Given the description of an element on the screen output the (x, y) to click on. 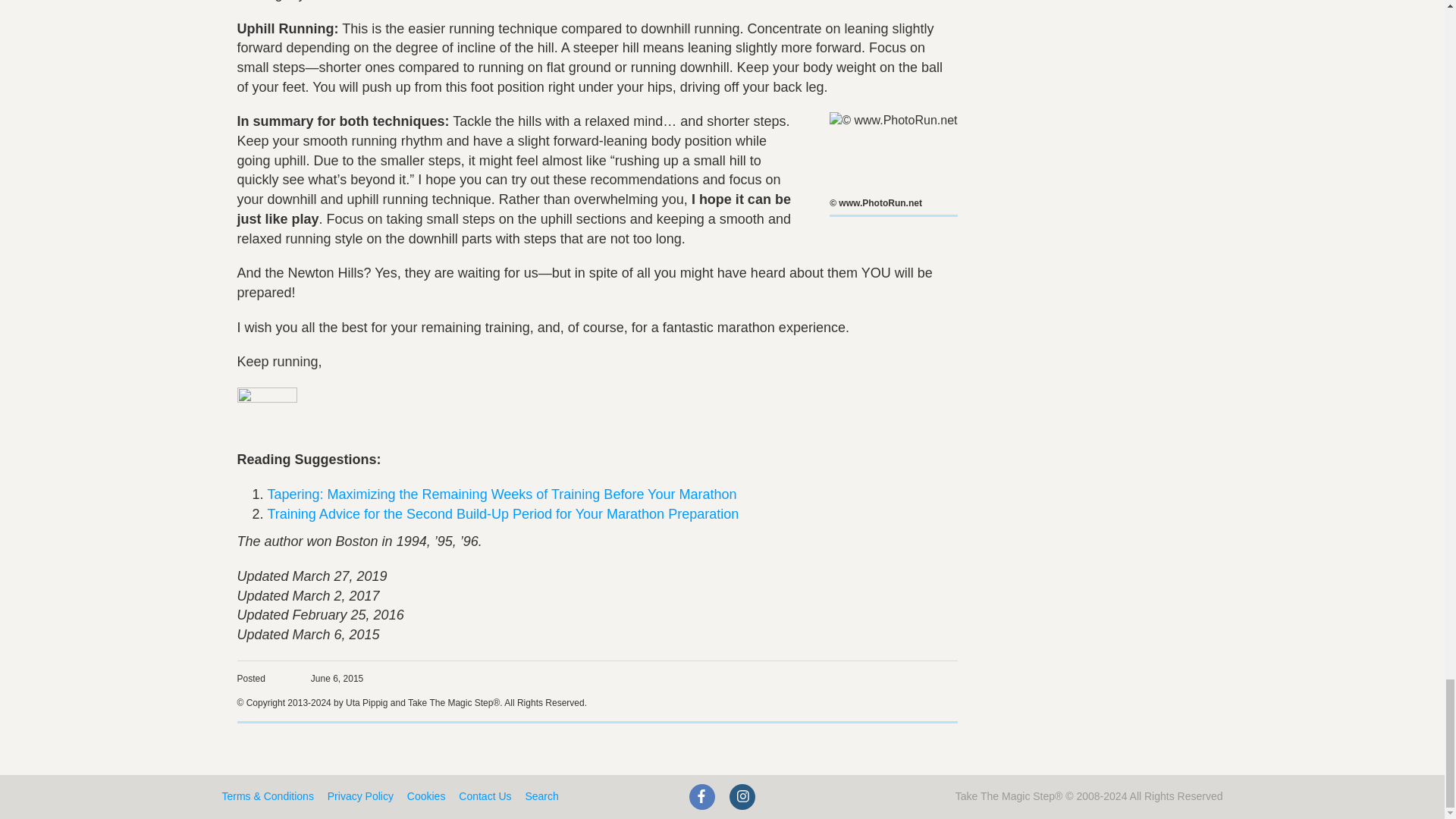
Cookies (426, 796)
Privacy Policy (360, 796)
Contact Us (484, 796)
Search (540, 796)
